Given the description of an element on the screen output the (x, y) to click on. 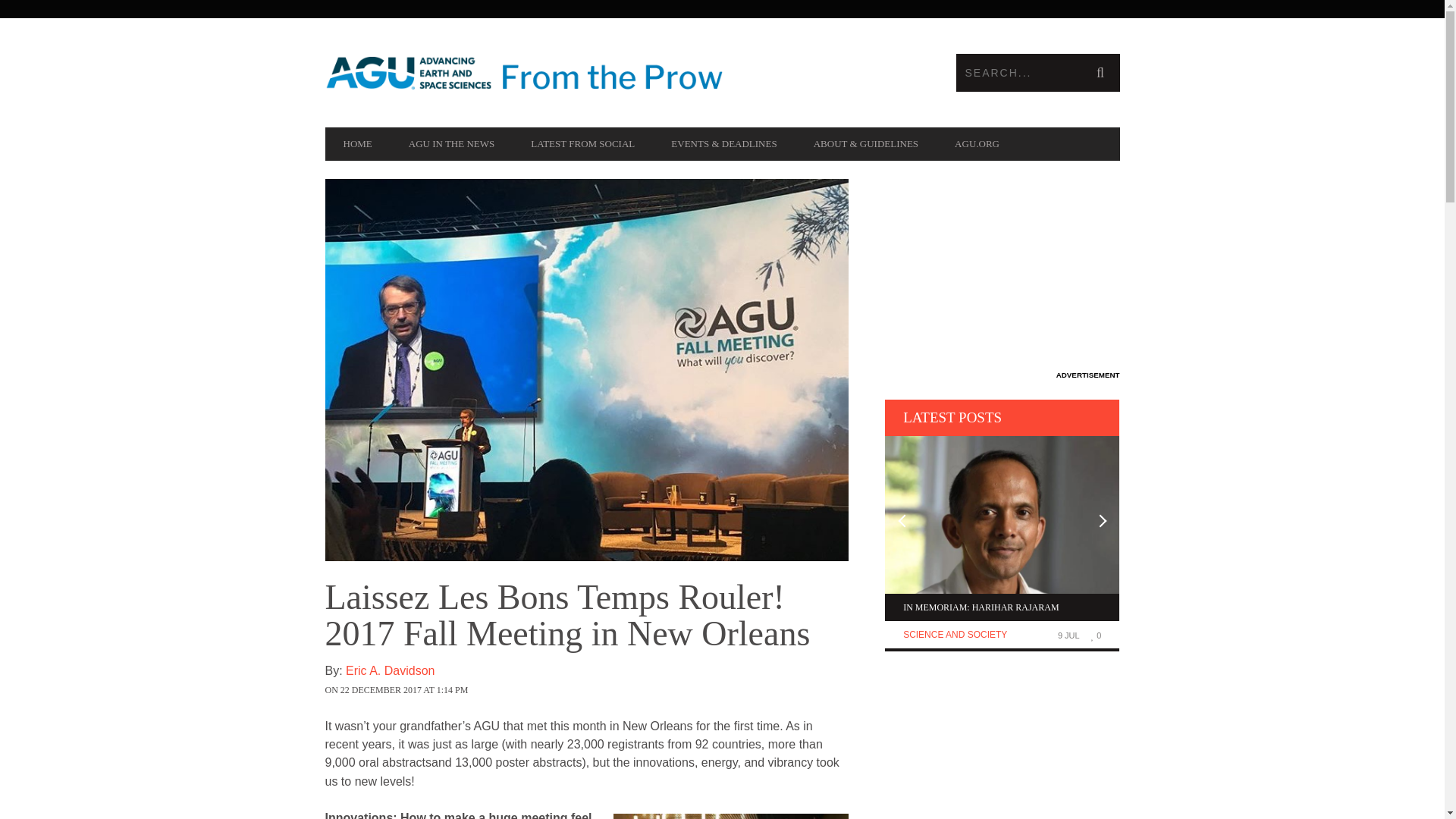
AGU.ORG (976, 144)
Posts by Eric A. Davidson (607, 679)
HOME (357, 144)
LATEST FROM SOCIAL (582, 144)
From The Prow (523, 72)
Eric A. Davidson (607, 679)
AGU IN THE NEWS (451, 144)
